Given the description of an element on the screen output the (x, y) to click on. 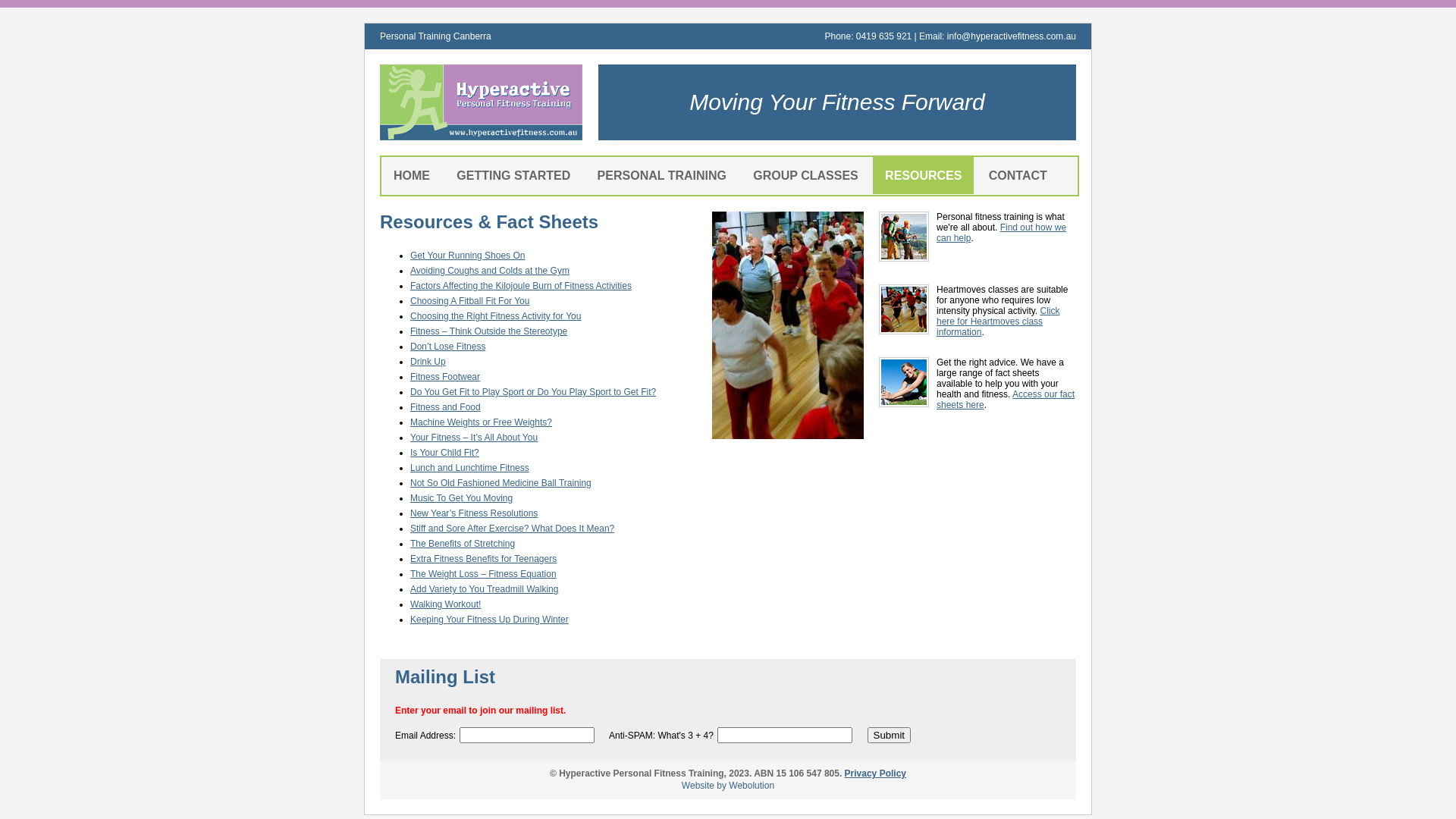
Keeping Your Fitness Up During Winter Element type: text (489, 619)
GROUP CLASSES Element type: text (805, 175)
Avoiding Coughs and Colds at the Gym Element type: text (489, 270)
Music To Get You Moving Element type: text (461, 497)
Is Your Child Fit? Element type: text (444, 452)
Submit Element type: text (888, 735)
PERSONAL TRAINING Element type: text (661, 175)
Machine Weights or Free Weights? Element type: text (481, 422)
info@hyperactivefitness.com.au Element type: text (1011, 36)
HOME Element type: text (411, 175)
Choosing A Fitball Fit For You Element type: text (469, 300)
Personal Training Canberra Element type: text (435, 36)
Walking Workout! Element type: text (445, 604)
Stiff and Sore After Exercise? What Does It Mean? Element type: text (512, 528)
Factors Affecting the Kilojoule Burn of Fitness Activities Element type: text (520, 285)
The Benefits of Stretching Element type: text (462, 543)
Choosing the Right Fitness Activity for You Element type: text (495, 315)
Website by Webolution Element type: text (727, 785)
Add Variety to You Treadmill Walking Element type: text (484, 588)
Not So Old Fashioned Medicine Ball Training Element type: text (500, 482)
RESOURCES Element type: text (922, 175)
Click here for Heartmoves class information Element type: text (998, 321)
Lunch and Lunchtime Fitness Element type: text (469, 467)
Fitness and Food Element type: text (445, 406)
Fitness Footwear Element type: text (445, 376)
GETTING STARTED Element type: text (513, 175)
Access our fact sheets here Element type: text (1005, 399)
CONTACT Element type: text (1017, 175)
Find out how we can help Element type: text (1001, 232)
Privacy Policy Element type: text (875, 773)
Extra Fitness Benefits for Teenagers Element type: text (483, 558)
Get Your Running Shoes On Element type: text (467, 255)
Drink Up Element type: text (427, 361)
